Given the description of an element on the screen output the (x, y) to click on. 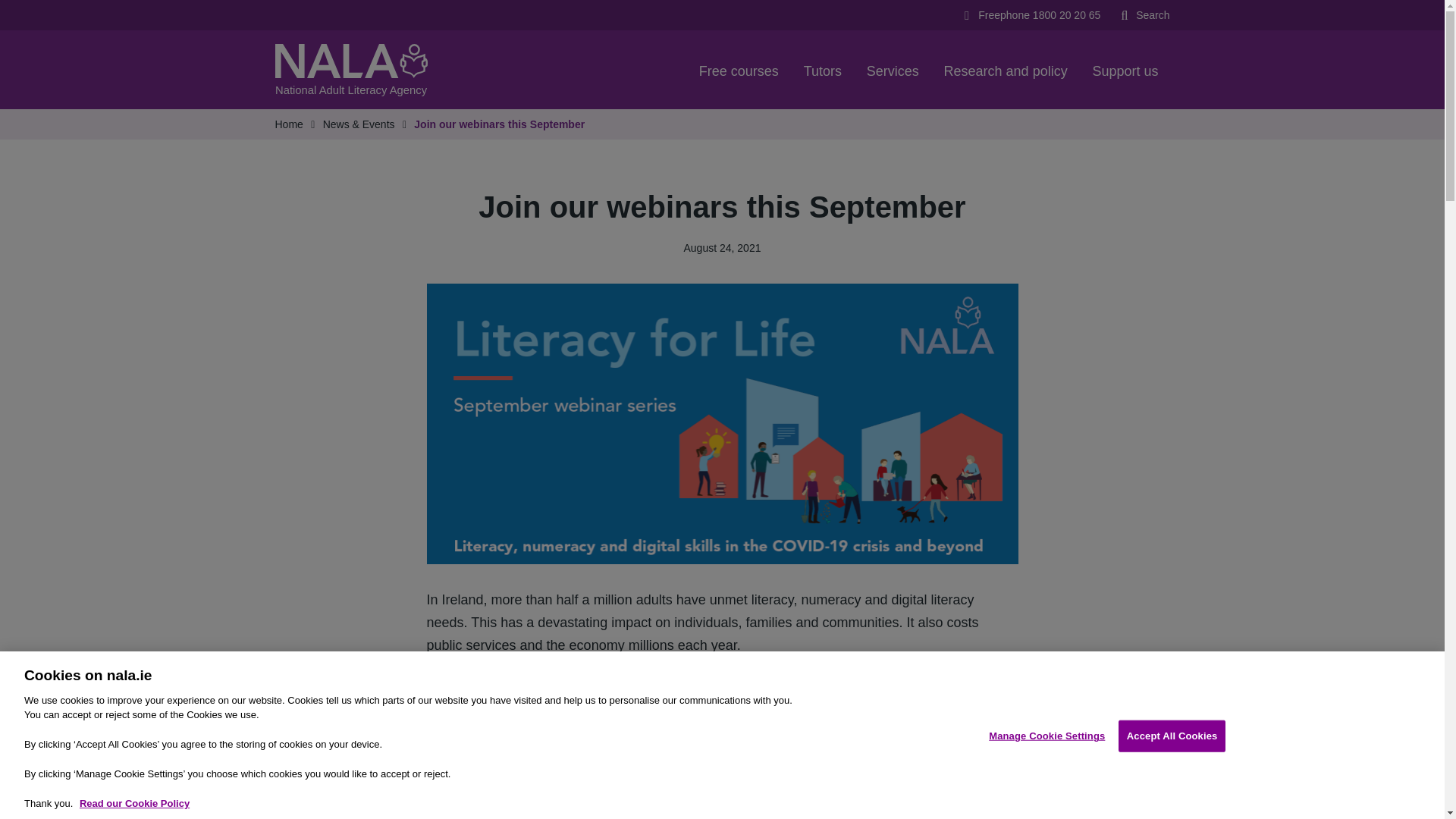
Free courses (738, 69)
Free courses (738, 69)
Services (893, 69)
Freephone 1800 20 20 65 (1029, 15)
Services (893, 69)
Search (1143, 15)
